Given the description of an element on the screen output the (x, y) to click on. 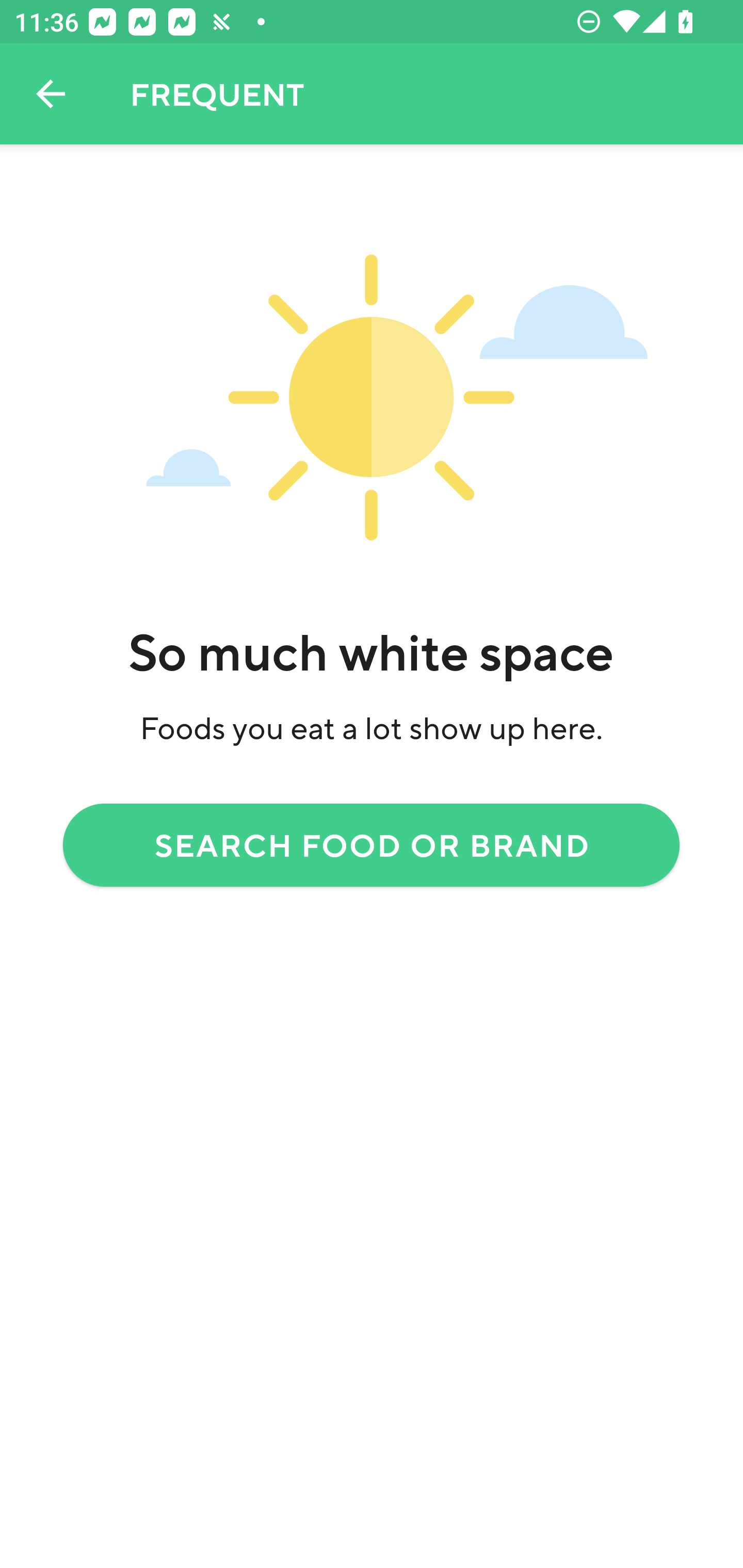
Navigate up (50, 93)
SEARCH FOOD OR BRAND (371, 843)
